Given the description of an element on the screen output the (x, y) to click on. 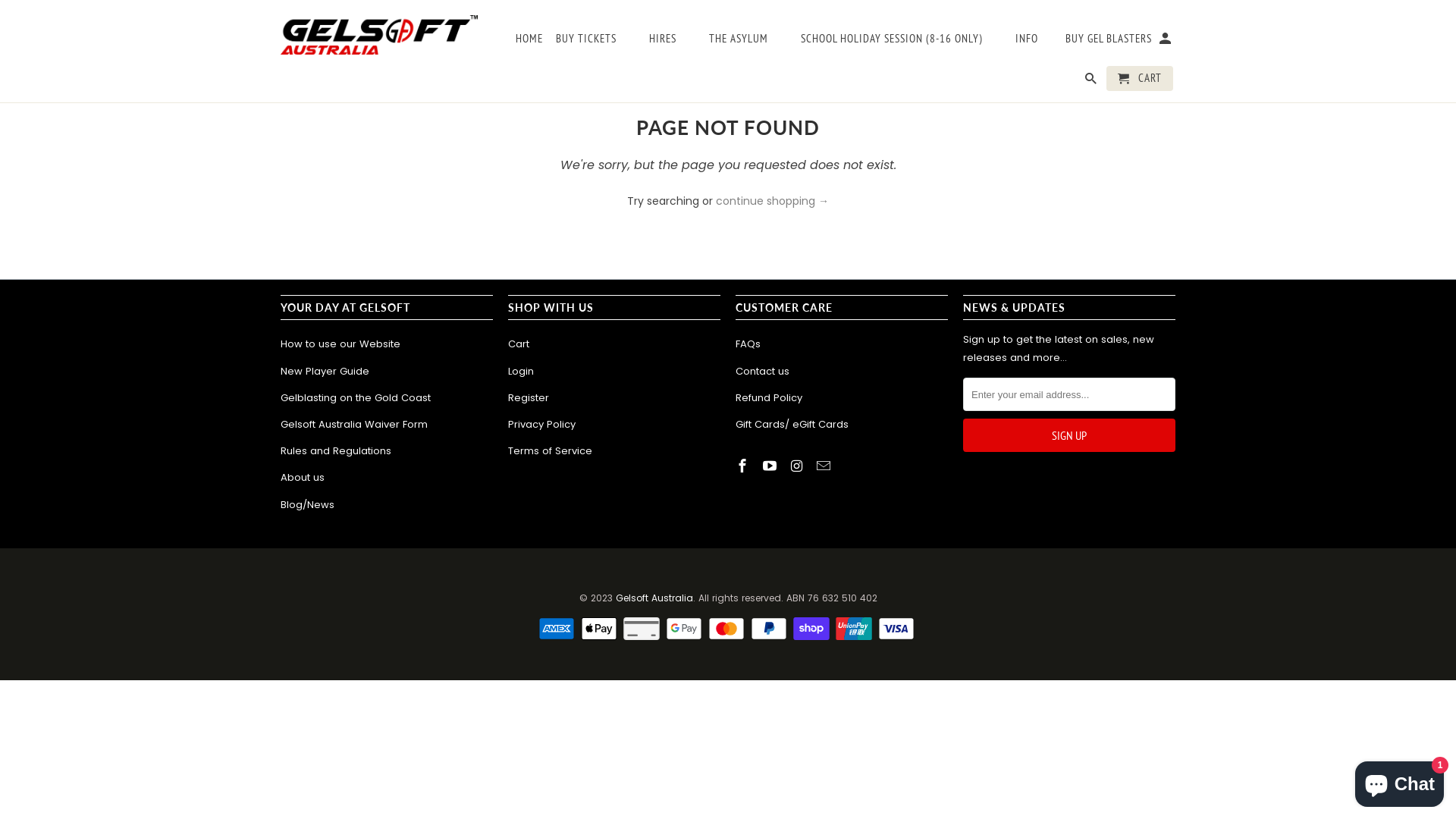
New Player Guide Element type: text (324, 371)
Register Element type: text (528, 397)
Gift Cards/ eGift Cards Element type: text (791, 424)
How to use our Website Element type: text (340, 343)
Gelsoft Australia Waiver Form Element type: text (353, 424)
HOME Element type: text (528, 40)
Gelsoft Australia on Facebook Element type: hover (743, 465)
Cart Element type: text (518, 343)
Gelsoft Australia Element type: hover (378, 32)
FAQs Element type: text (747, 343)
Login Element type: text (520, 371)
Privacy Policy Element type: text (541, 424)
Search Element type: hover (1091, 81)
Shopify online store chat Element type: hover (1399, 780)
CART Element type: text (1139, 78)
Email Gelsoft Australia Element type: hover (824, 465)
Contact us Element type: text (762, 371)
Rules and Regulations Element type: text (335, 450)
About us Element type: text (302, 477)
Blog/News Element type: text (307, 504)
Gelsoft Australia on Instagram Element type: hover (798, 465)
Refund Policy Element type: text (768, 397)
Gelsoft Australia on YouTube Element type: hover (770, 465)
My Account  Element type: hover (1166, 40)
Terms of Service Element type: text (550, 450)
Sign Up Element type: text (1069, 434)
Gelblasting on the Gold Coast Element type: text (355, 397)
Gelsoft Australia Element type: text (654, 597)
BUY GEL BLASTERS Element type: text (1108, 40)
